Given the description of an element on the screen output the (x, y) to click on. 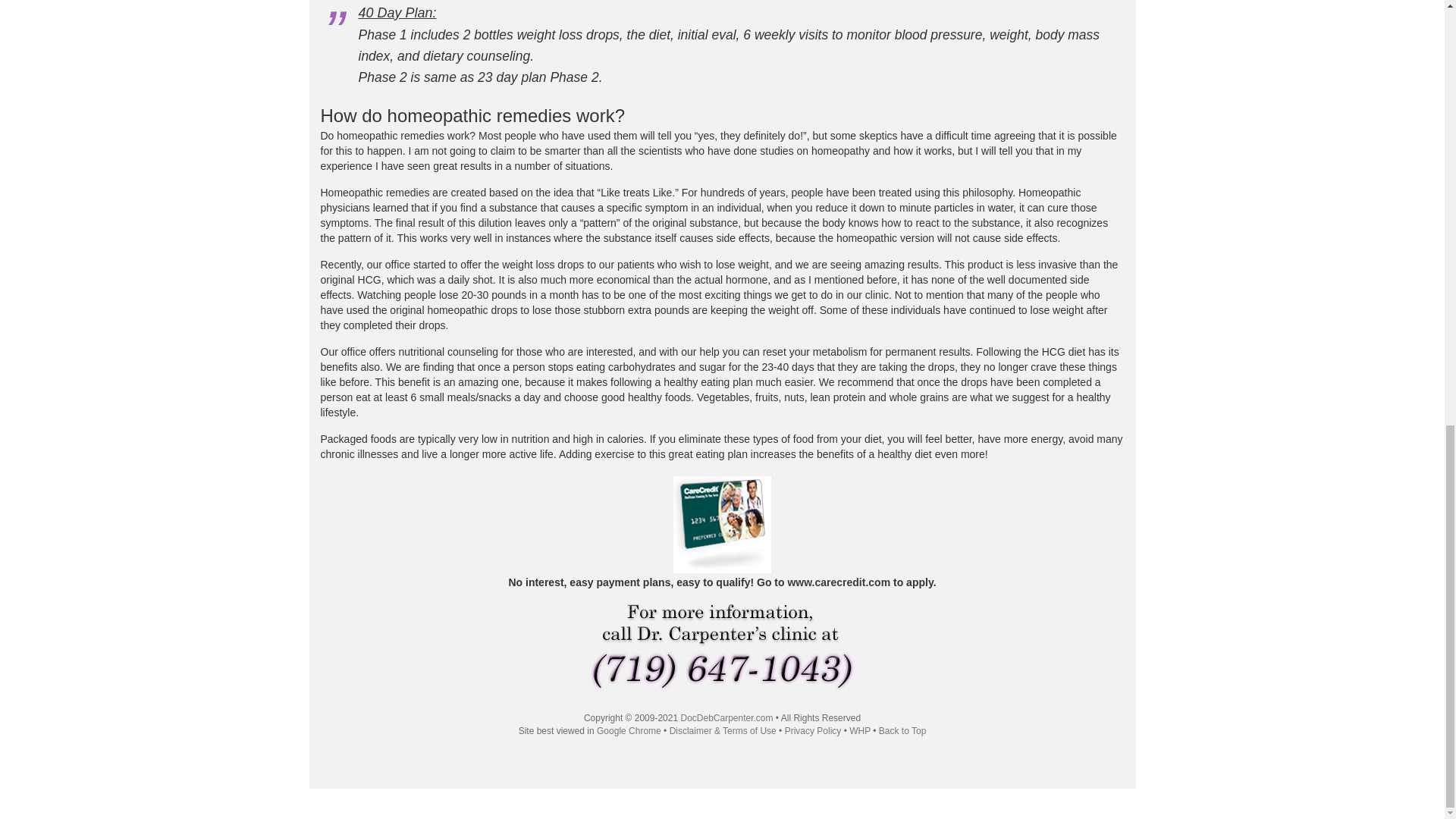
WHP (859, 730)
www.carecredit.com (838, 582)
Privacy Policy (812, 730)
Google Chrome (628, 730)
DocDebCarpenter.com (726, 717)
Back to Top (902, 730)
